Given the description of an element on the screen output the (x, y) to click on. 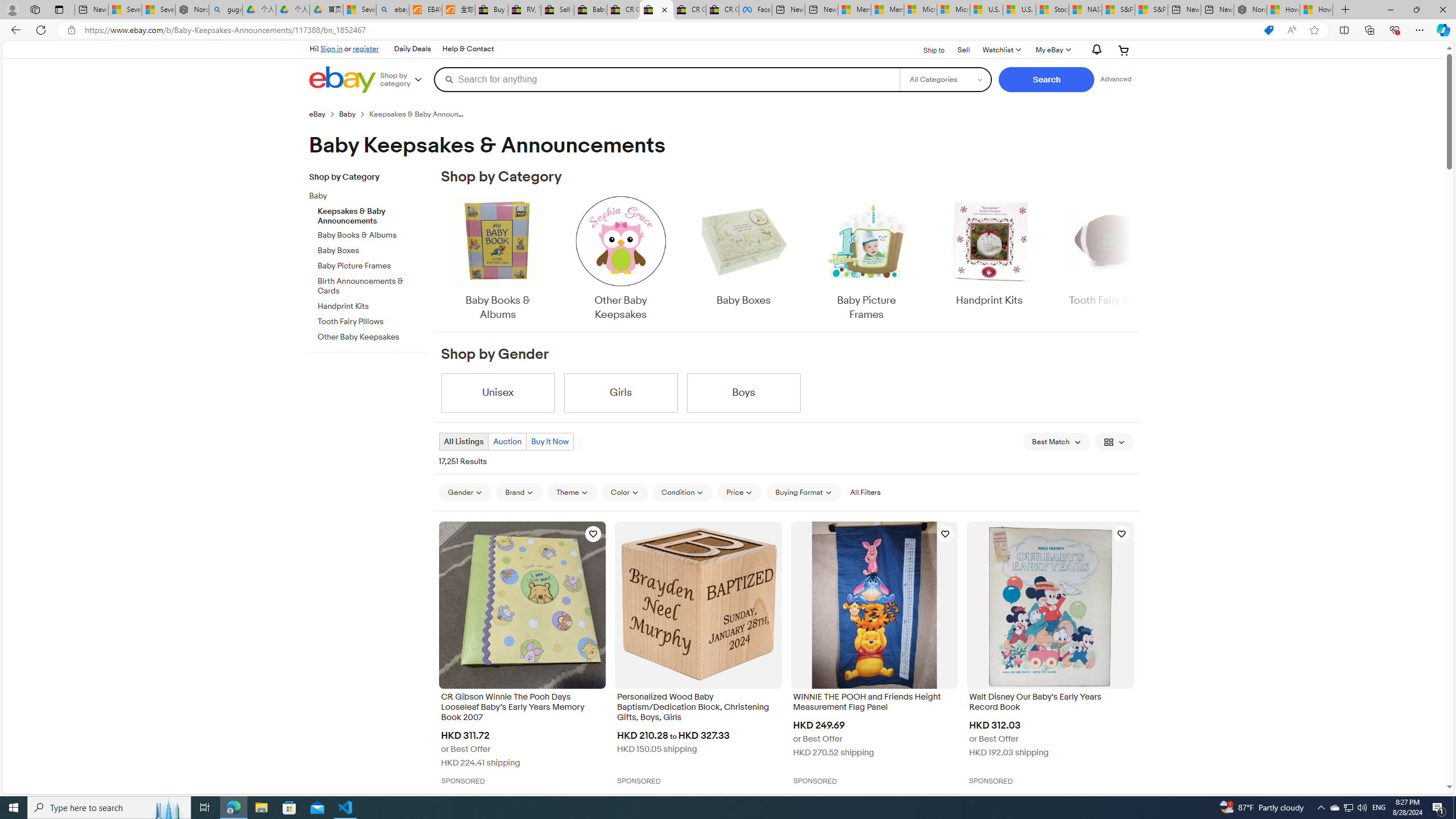
Baby Picture Frames (866, 258)
Baby Boxes (742, 258)
Gender (465, 492)
Search (1046, 79)
Condition (682, 492)
Facebook (755, 9)
Walt Disney Our Baby's Early Years Record Book (1050, 703)
Sort: Best Match (1056, 441)
All Filters (864, 492)
Settings and more (Alt+F) (1419, 29)
